Given the description of an element on the screen output the (x, y) to click on. 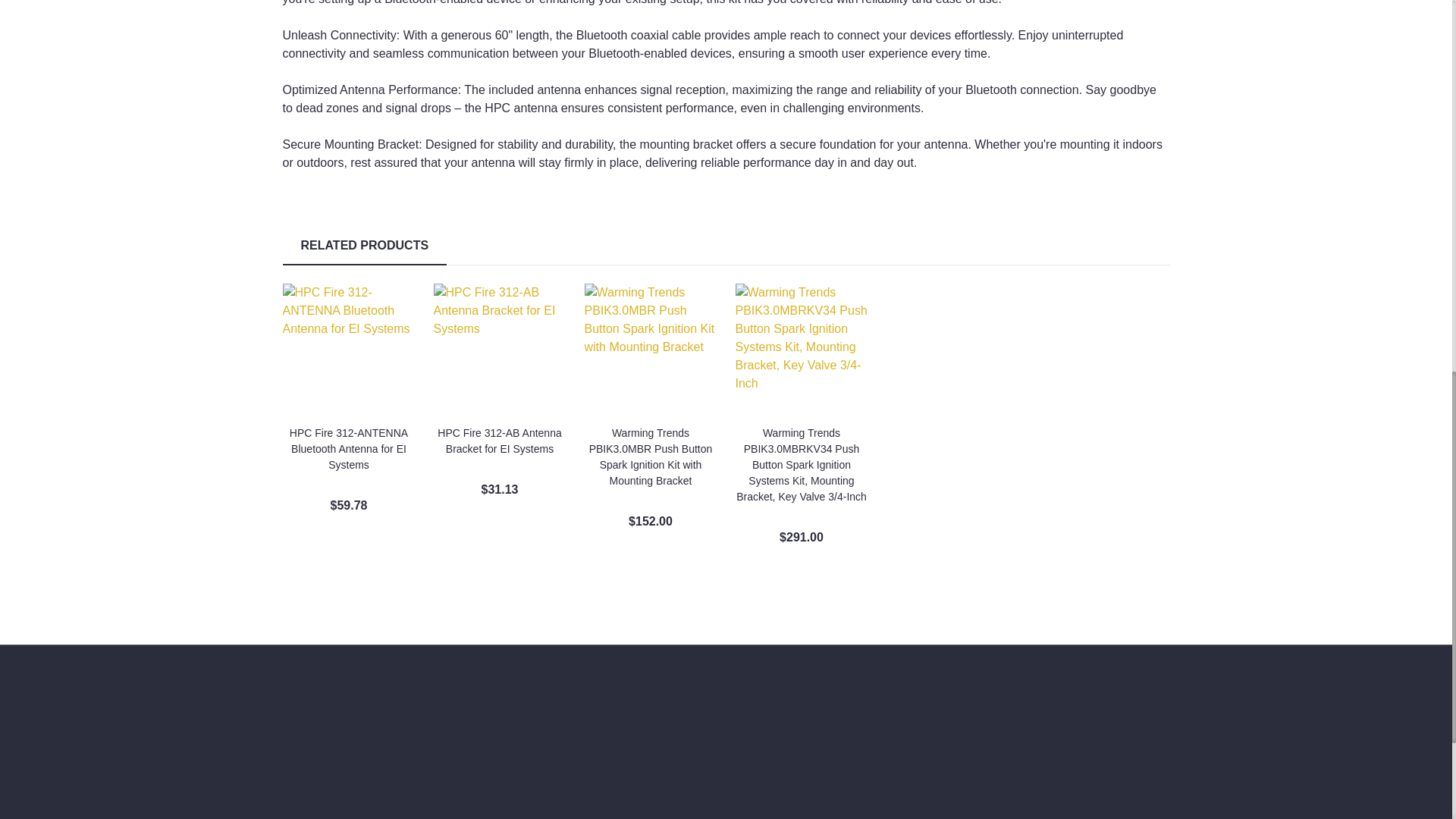
HPC Fire 312-ANTENNA Bluetooth Antenna for EI Systems (348, 349)
HPC Fire 312-AB Antenna Bracket for EI Systems (499, 349)
